Given the description of an element on the screen output the (x, y) to click on. 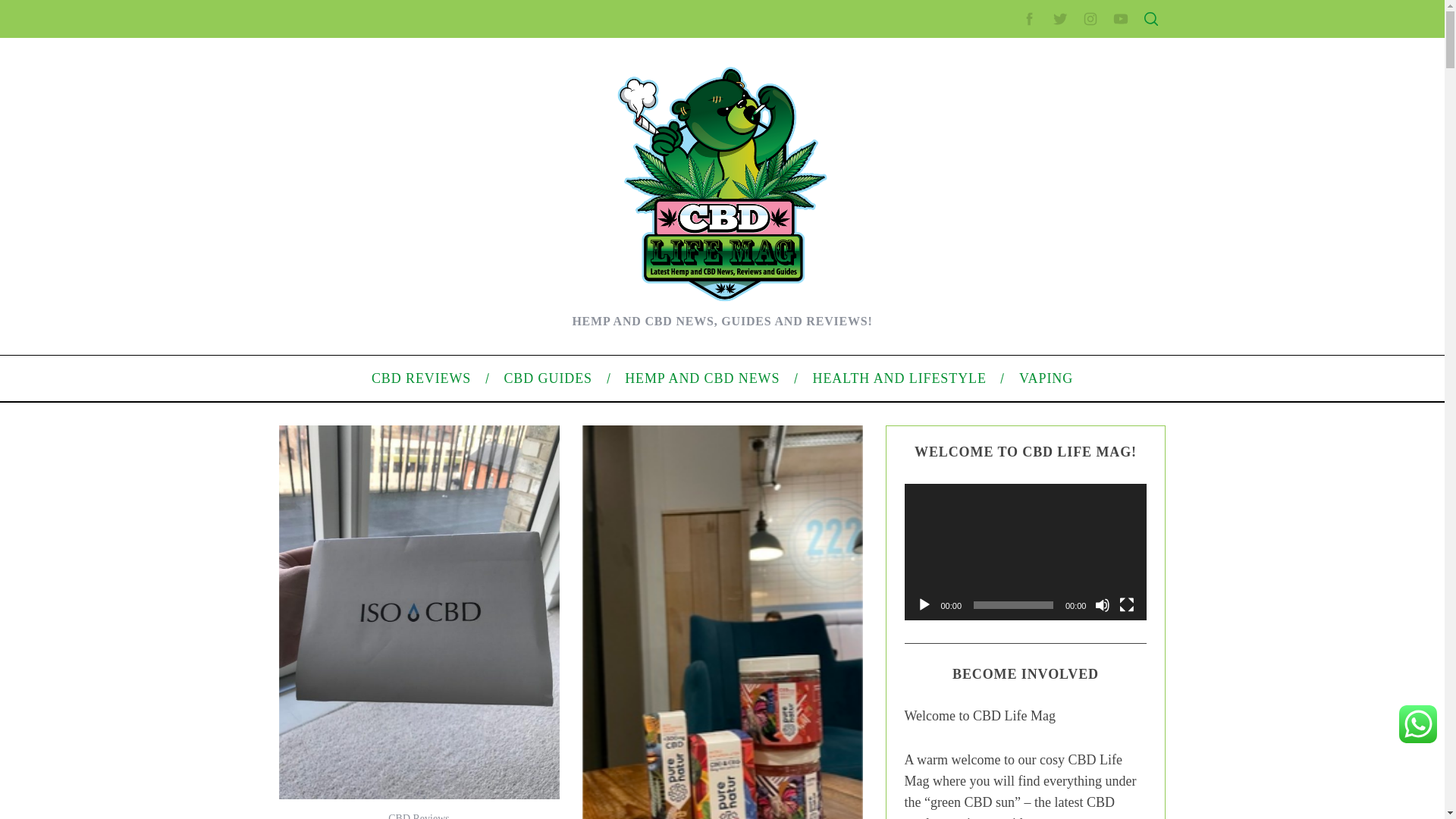
Search (1050, 85)
Skip to content (34, 9)
Log in (980, 588)
August 2020 (996, 432)
Disclaimer (990, 354)
RSS (977, 612)
Search for: (1049, 47)
Terms of Use (996, 330)
Blog (976, 510)
Latest Article (996, 172)
CUPCAKEDELIGHTS.CO.UK (433, 28)
discover here (339, 393)
read here (474, 494)
DMCA Policy (996, 282)
discover this (371, 458)
